Given the description of an element on the screen output the (x, y) to click on. 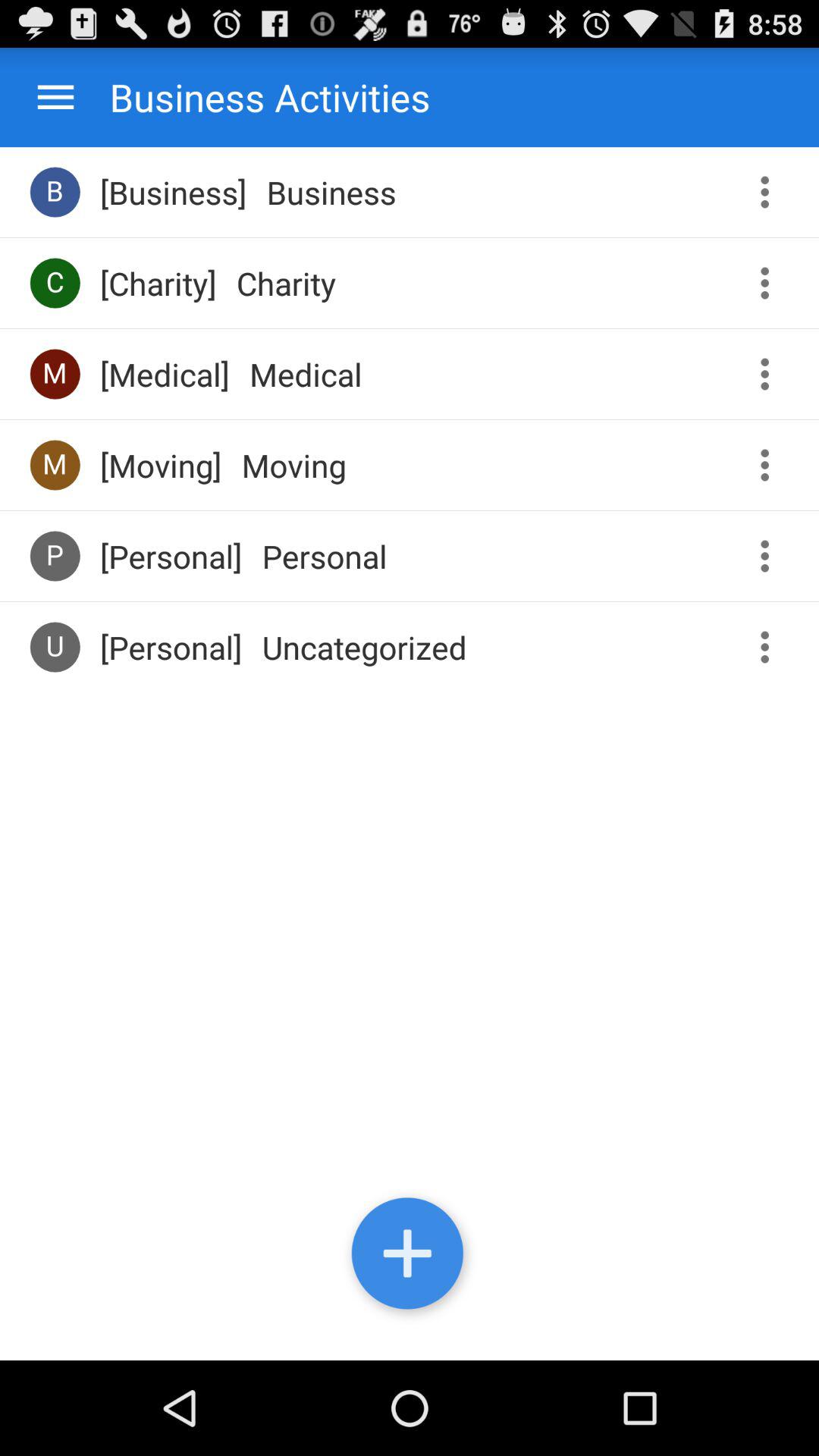
turn off the app below personal item (364, 646)
